Given the description of an element on the screen output the (x, y) to click on. 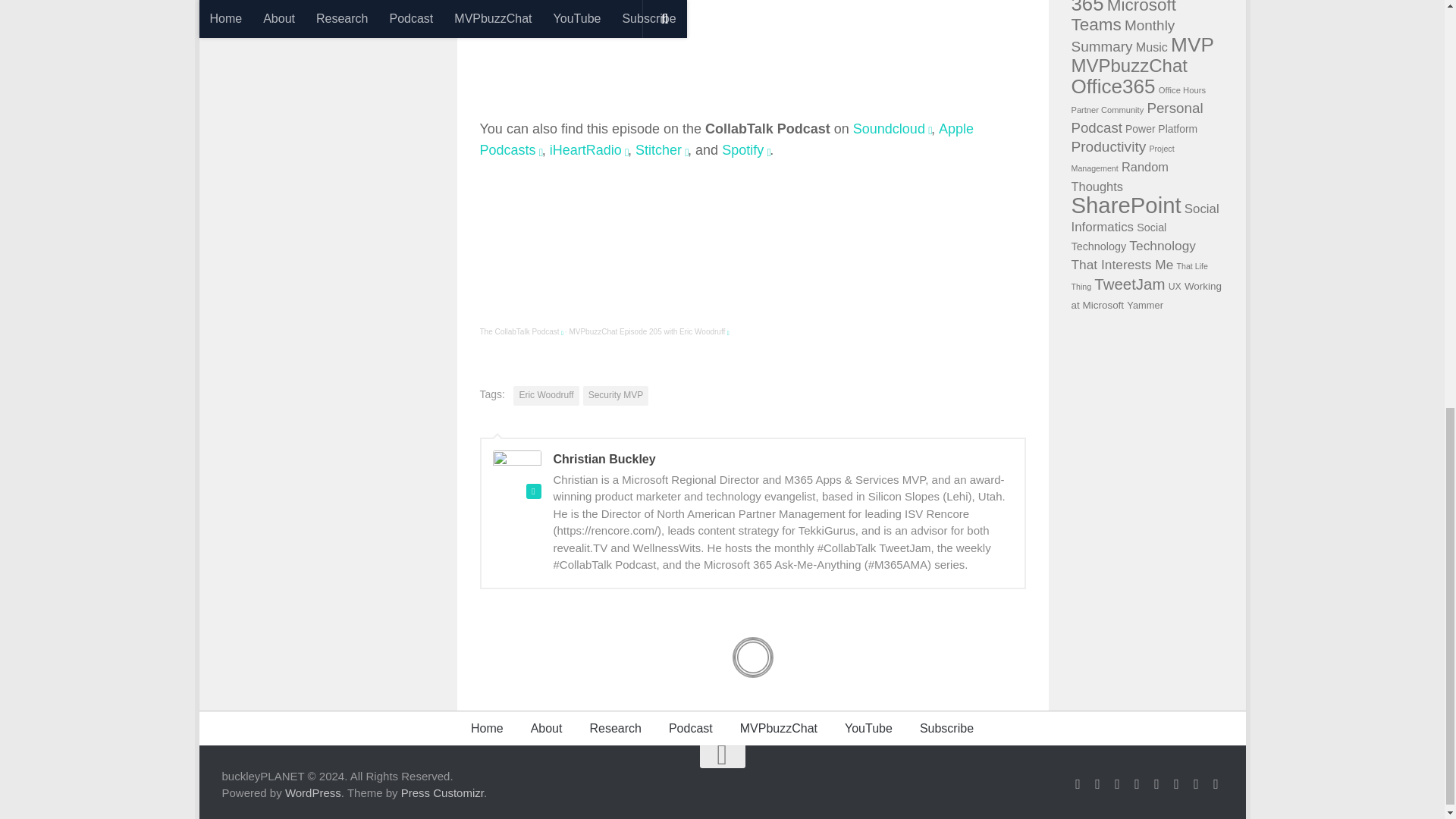
The CollabTalk Podcast (519, 331)
Spotify (742, 150)
Security MVP (616, 395)
iHeartRadio (585, 150)
Eric Woodruff (545, 395)
Apple Podcasts (726, 139)
MVPbuzzChat Episode 205 with Eric Woodruff (647, 331)
MVPbuzzChat Episode 205 with Eric Woodruff (647, 331)
Stitcher (657, 150)
The CollabTalk Podcast (519, 331)
